Given the description of an element on the screen output the (x, y) to click on. 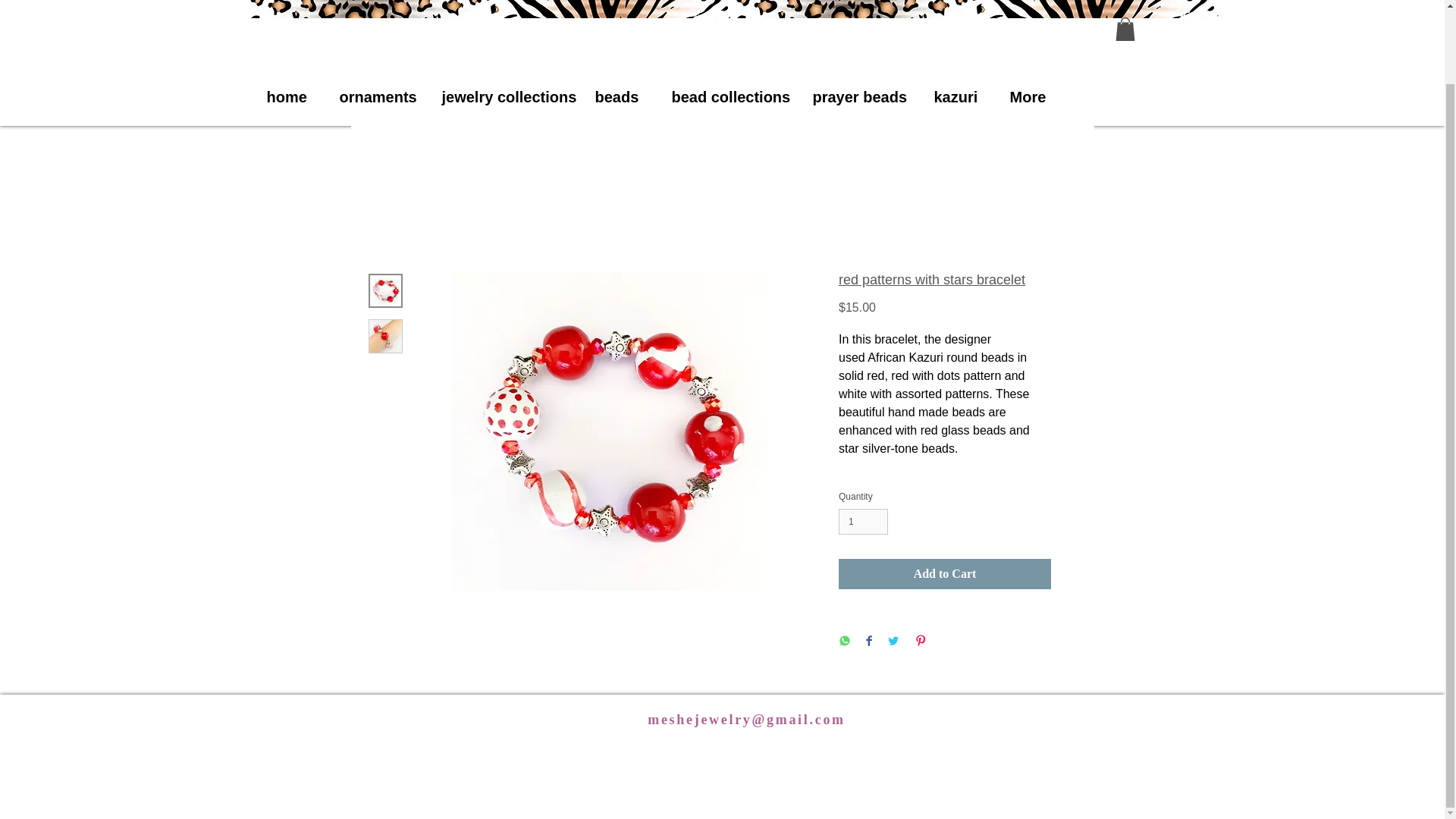
jewelry collections (499, 96)
1 (863, 521)
home (283, 96)
ornaments (371, 96)
beads (614, 96)
bead collections (722, 96)
